Given the description of an element on the screen output the (x, y) to click on. 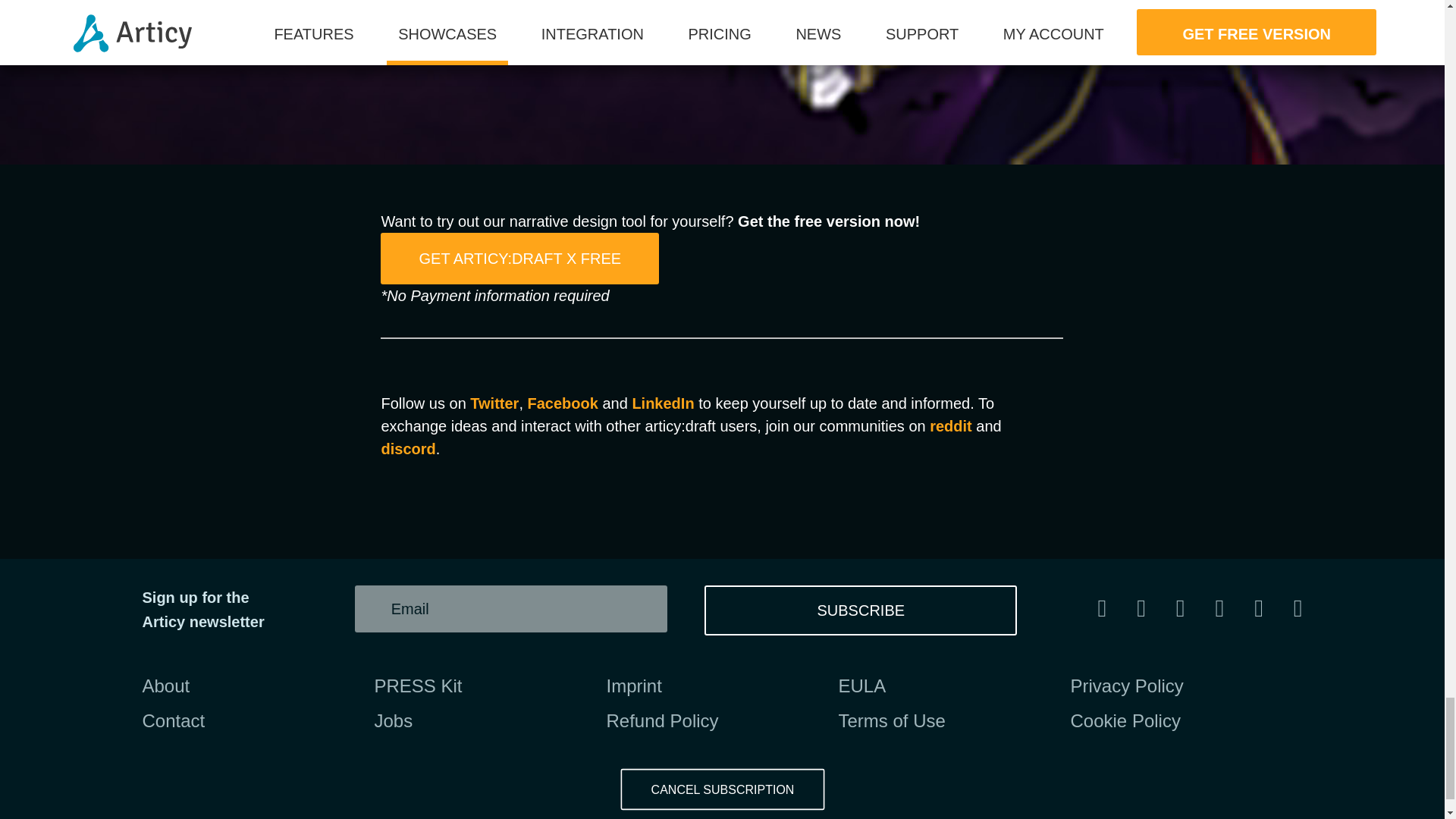
Subscribe (860, 610)
Privacy Policy (1126, 685)
reddit (951, 425)
Subscribe (860, 610)
Imprint (634, 685)
Twitter (494, 402)
Refund Policy (663, 720)
LinkedIn (662, 402)
Contact (173, 720)
About (166, 685)
